Given the description of an element on the screen output the (x, y) to click on. 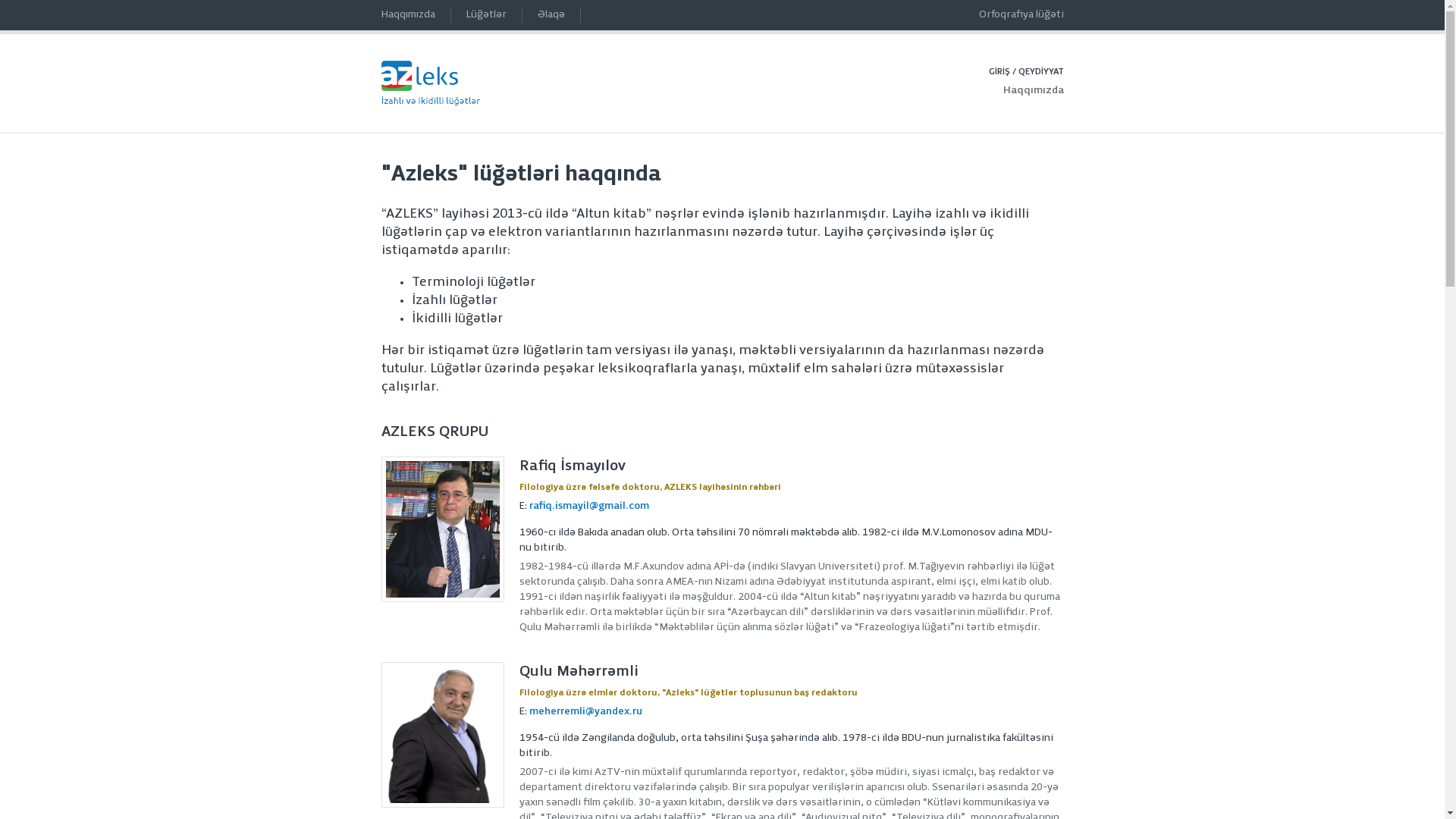
rafiq.ismayil@gmail.com Element type: text (589, 506)
QEYDIYYAT Element type: text (1040, 71)
meherremli@yandex.ru Element type: text (585, 711)
